Given the description of an element on the screen output the (x, y) to click on. 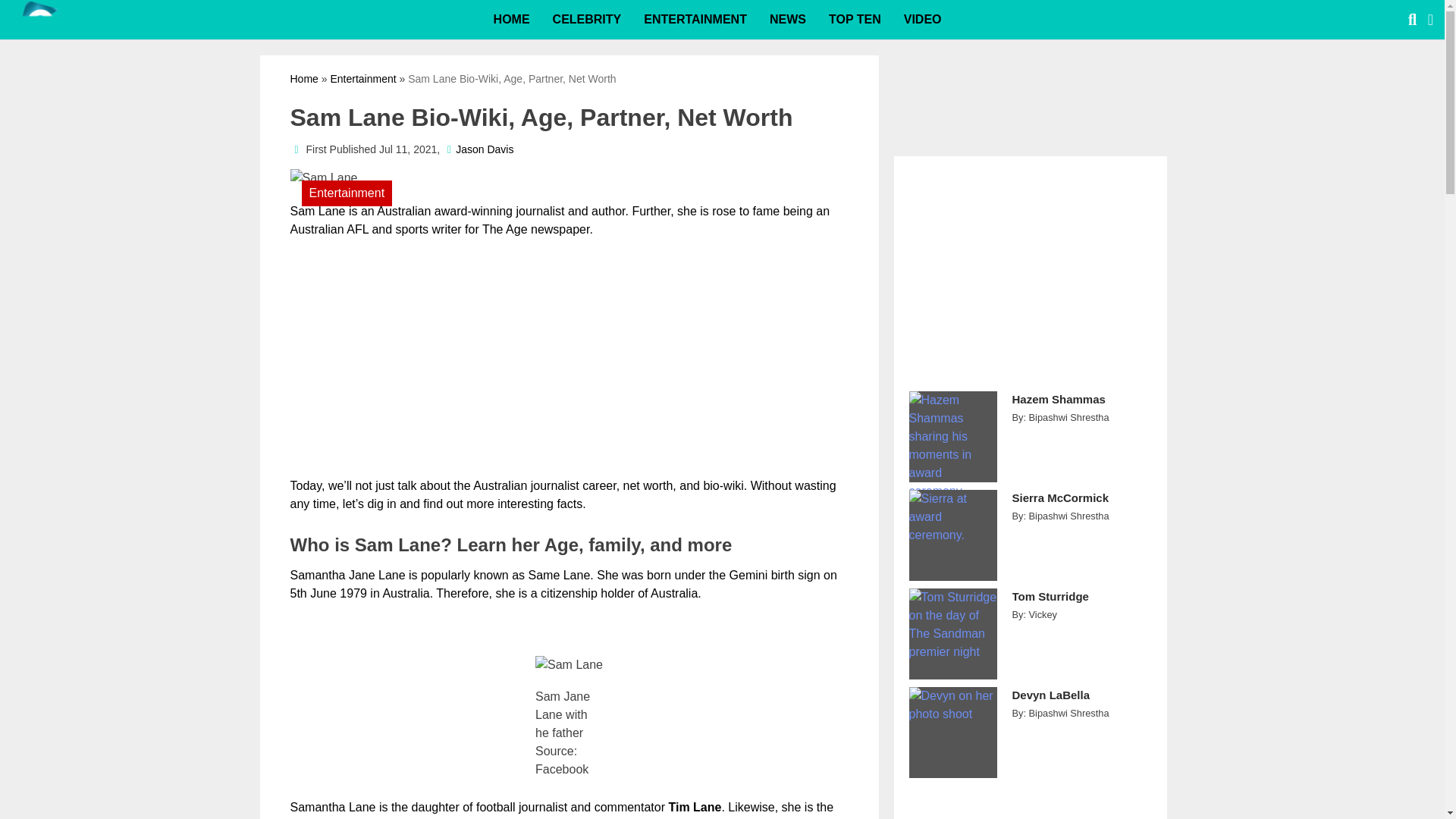
Entertainment (363, 78)
Jason Davis (484, 149)
CELEBRITY (587, 19)
Home (303, 78)
VIDEO (922, 19)
TOP TEN (854, 19)
NEWS (787, 19)
ENTERTAINMENT (694, 19)
Jason Davis (484, 149)
HOME (511, 19)
